Given the description of an element on the screen output the (x, y) to click on. 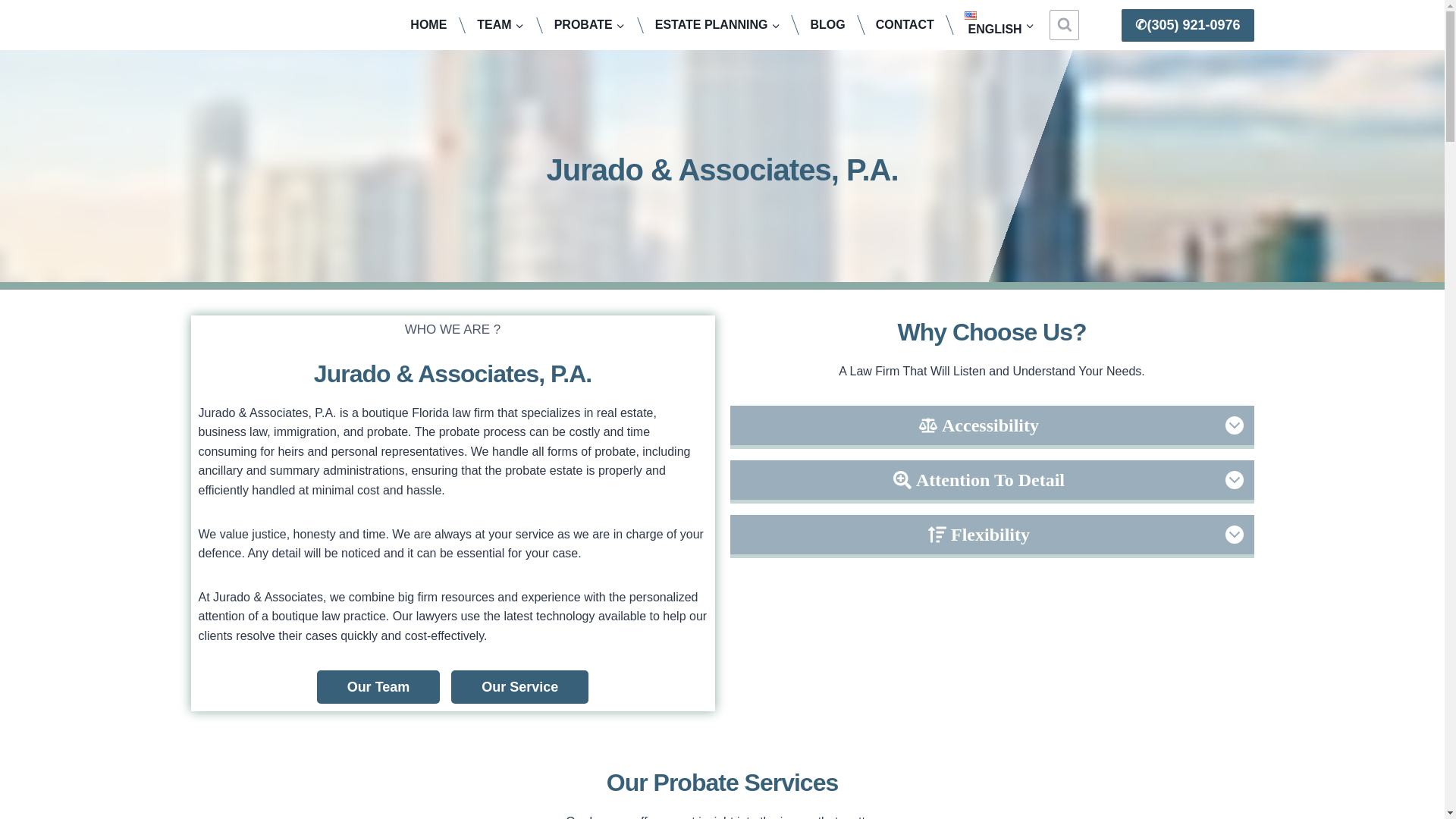
HOME (427, 24)
Attention To Detail (991, 481)
CONTACT (904, 24)
Our Team (379, 687)
BLOG (827, 24)
PROBATE (589, 24)
Flexibility (991, 536)
TEAM (499, 24)
ESTATE PLANNING (717, 24)
Our Service (519, 687)
